Given the description of an element on the screen output the (x, y) to click on. 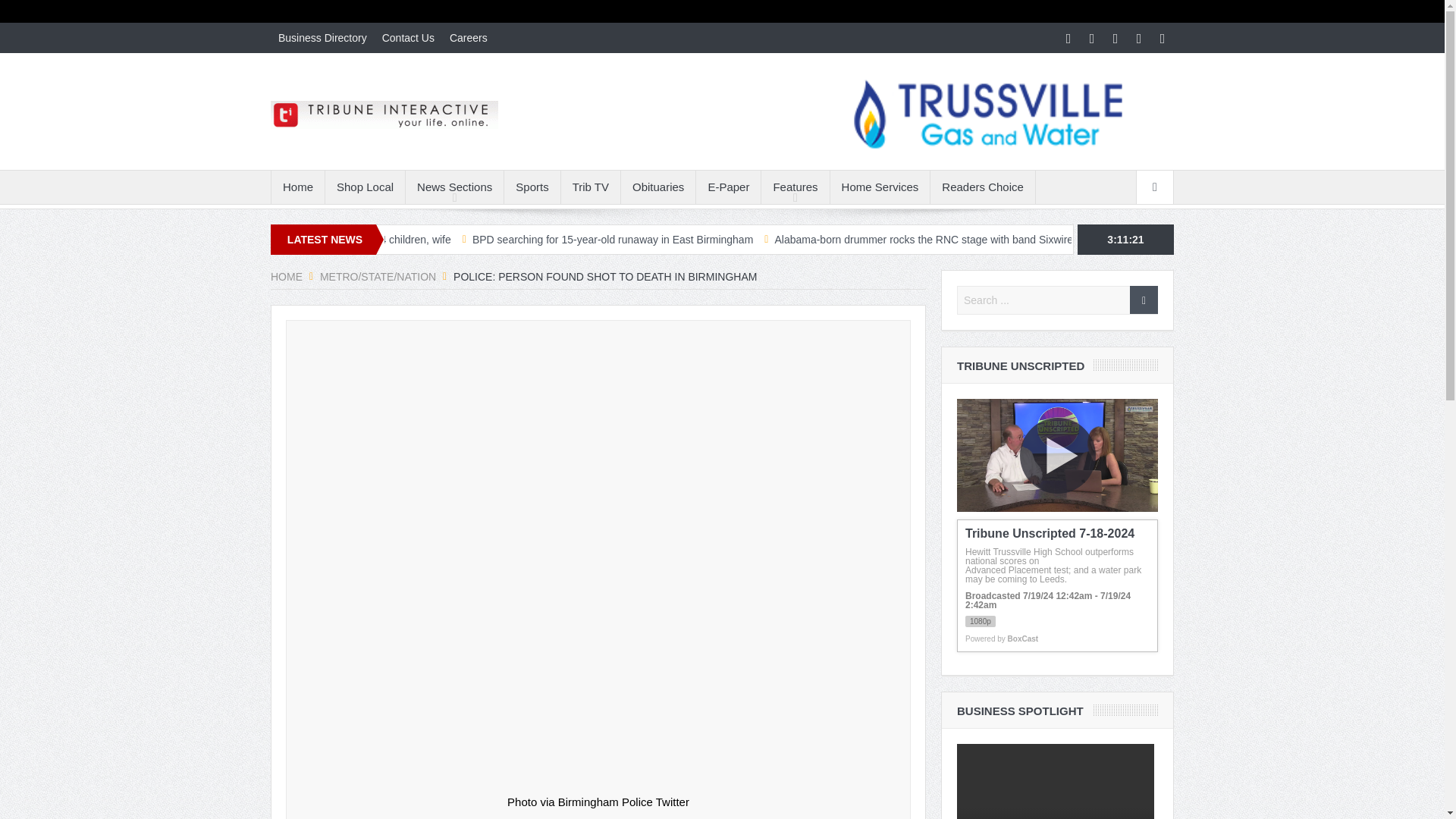
Contact Us (408, 37)
News Sections (454, 186)
Home (297, 186)
Careers (468, 37)
E-Paper (727, 186)
Obituaries (658, 186)
Sports (531, 186)
Trib TV (590, 186)
Shop Local (364, 186)
Features (794, 186)
Home Services (879, 186)
Readers Choice (982, 186)
Business Directory (322, 37)
